Given the description of an element on the screen output the (x, y) to click on. 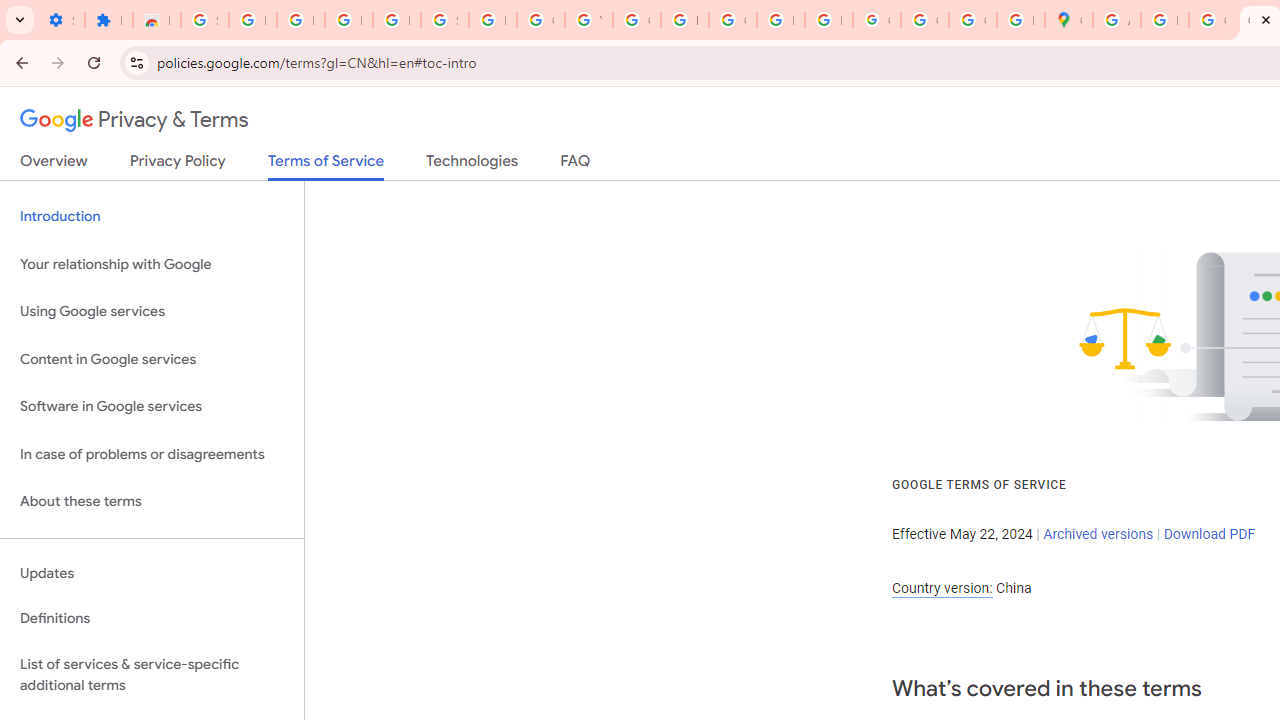
Country version: (942, 588)
Sign in - Google Accounts (204, 20)
In case of problems or disagreements (152, 453)
Delete photos & videos - Computer - Google Photos Help (300, 20)
Close (1265, 19)
Using Google services (152, 312)
System (10, 11)
Content in Google services (152, 358)
Download PDF (1209, 533)
Privacy Policy (177, 165)
Reviews: Helix Fruit Jump Arcade Game (156, 20)
